Given the description of an element on the screen output the (x, y) to click on. 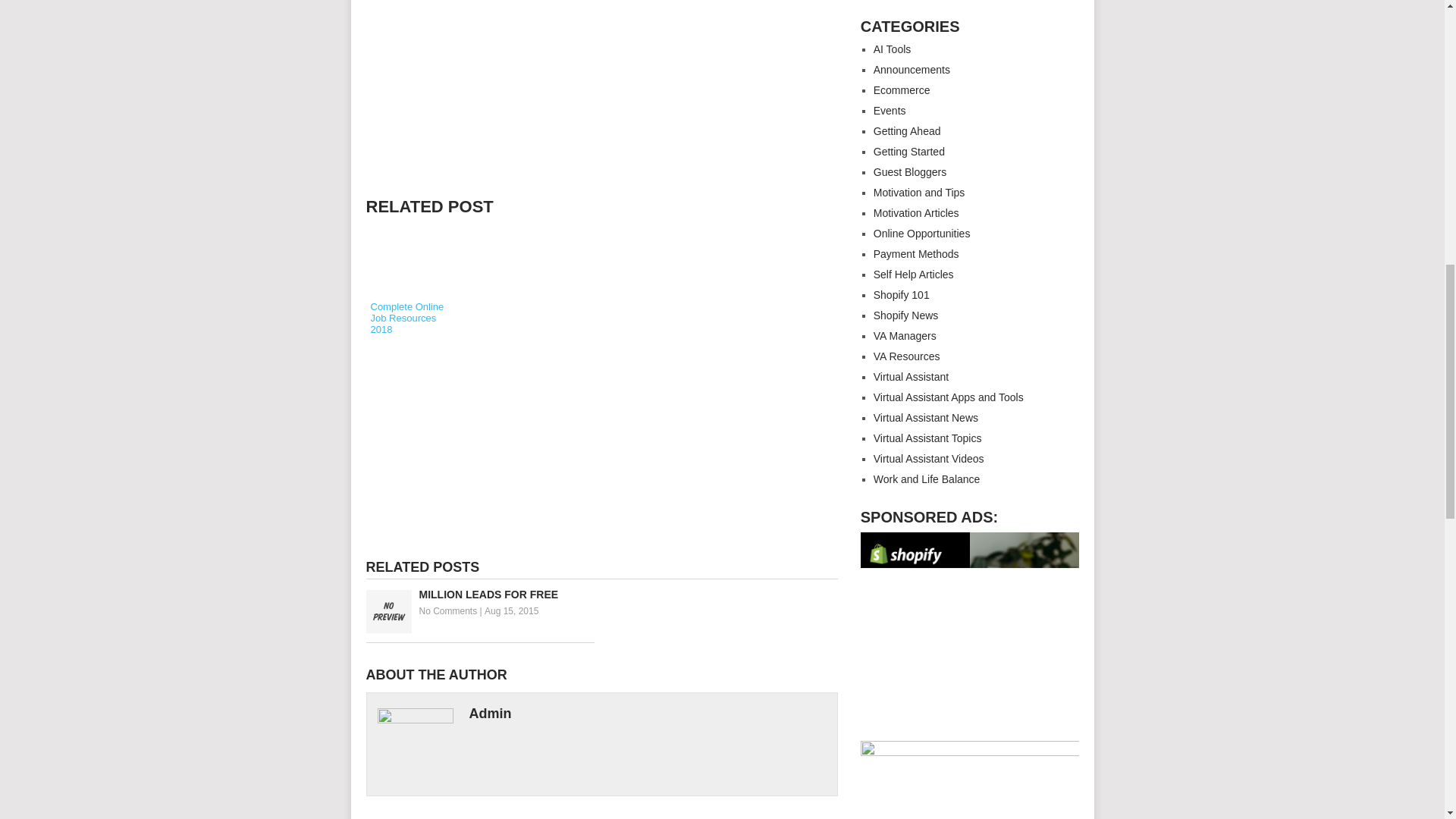
Getting Ahead (906, 131)
AI Tools (892, 49)
Ecommerce (901, 90)
MILLION LEADS FOR FREE (479, 594)
No Comments (448, 611)
Events (889, 110)
Million Leads For Free (479, 594)
Announcements (911, 69)
